Given the description of an element on the screen output the (x, y) to click on. 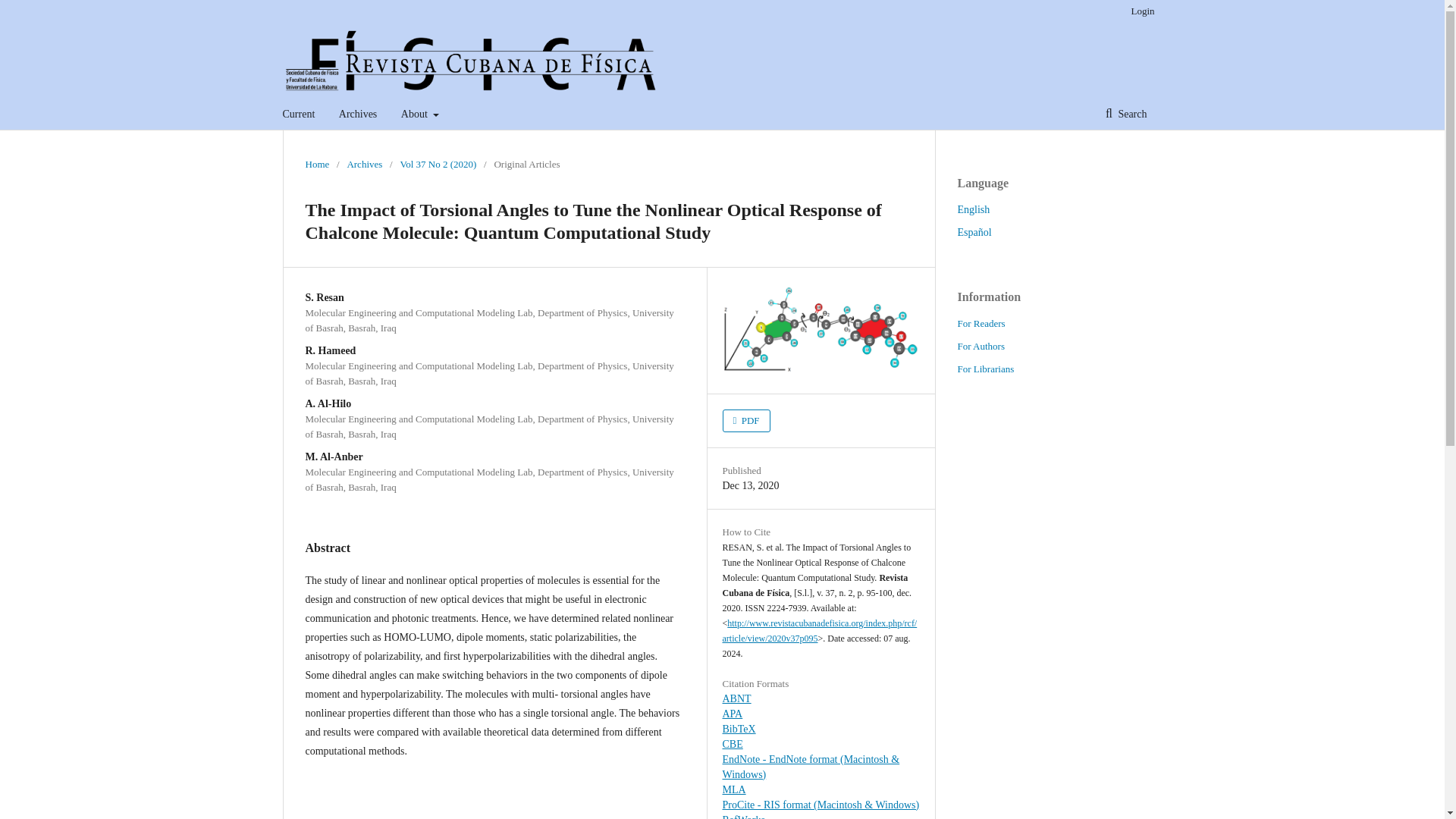
Home (316, 164)
Login (1138, 11)
BibTeX (738, 728)
APA (732, 713)
Archives (363, 164)
English (973, 209)
PDF (746, 420)
About (420, 114)
For Readers (980, 323)
MLA (733, 789)
